Given the description of an element on the screen output the (x, y) to click on. 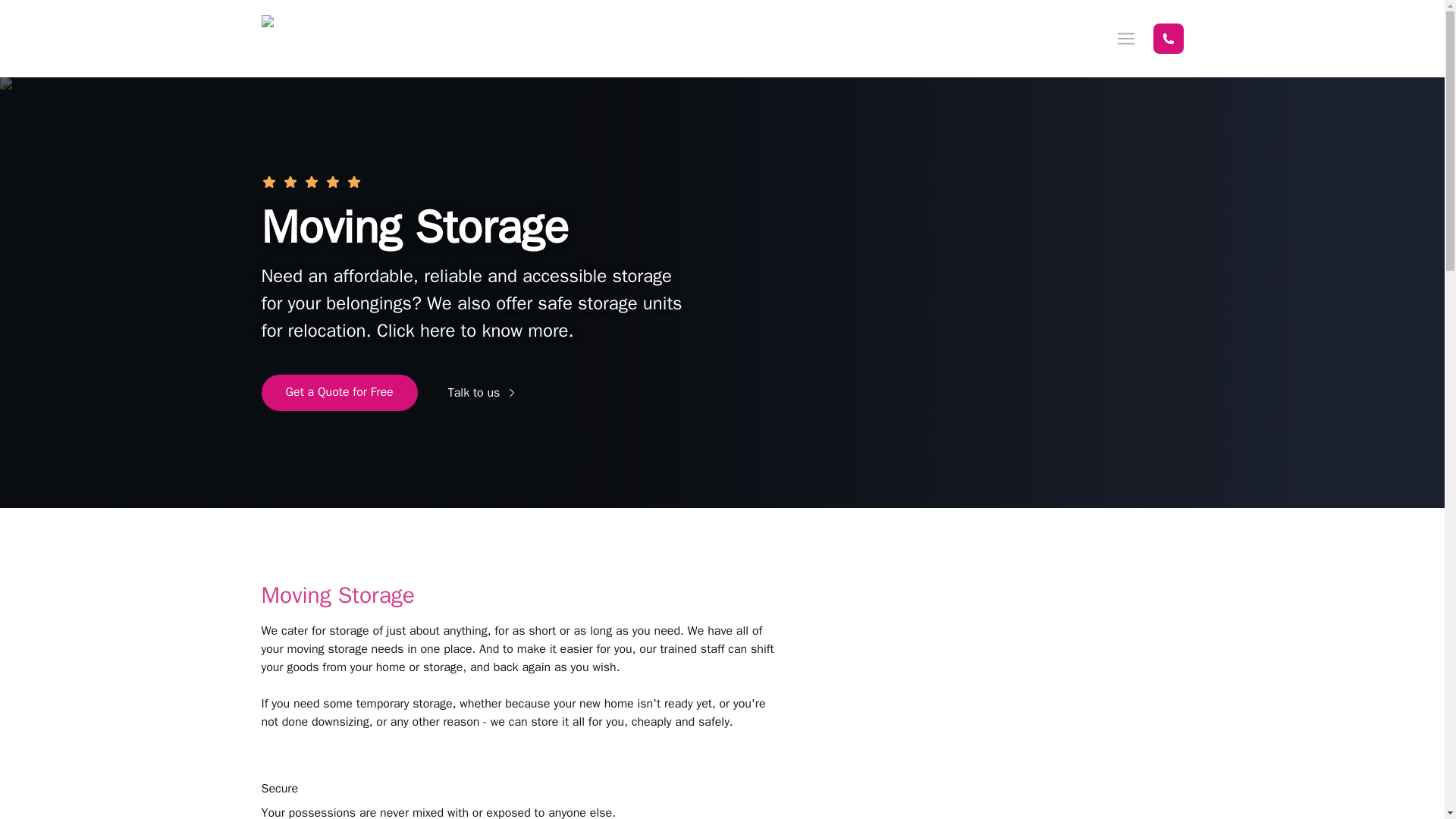
Get a Quote for Free (338, 392)
Talk to us (483, 392)
